Given the description of an element on the screen output the (x, y) to click on. 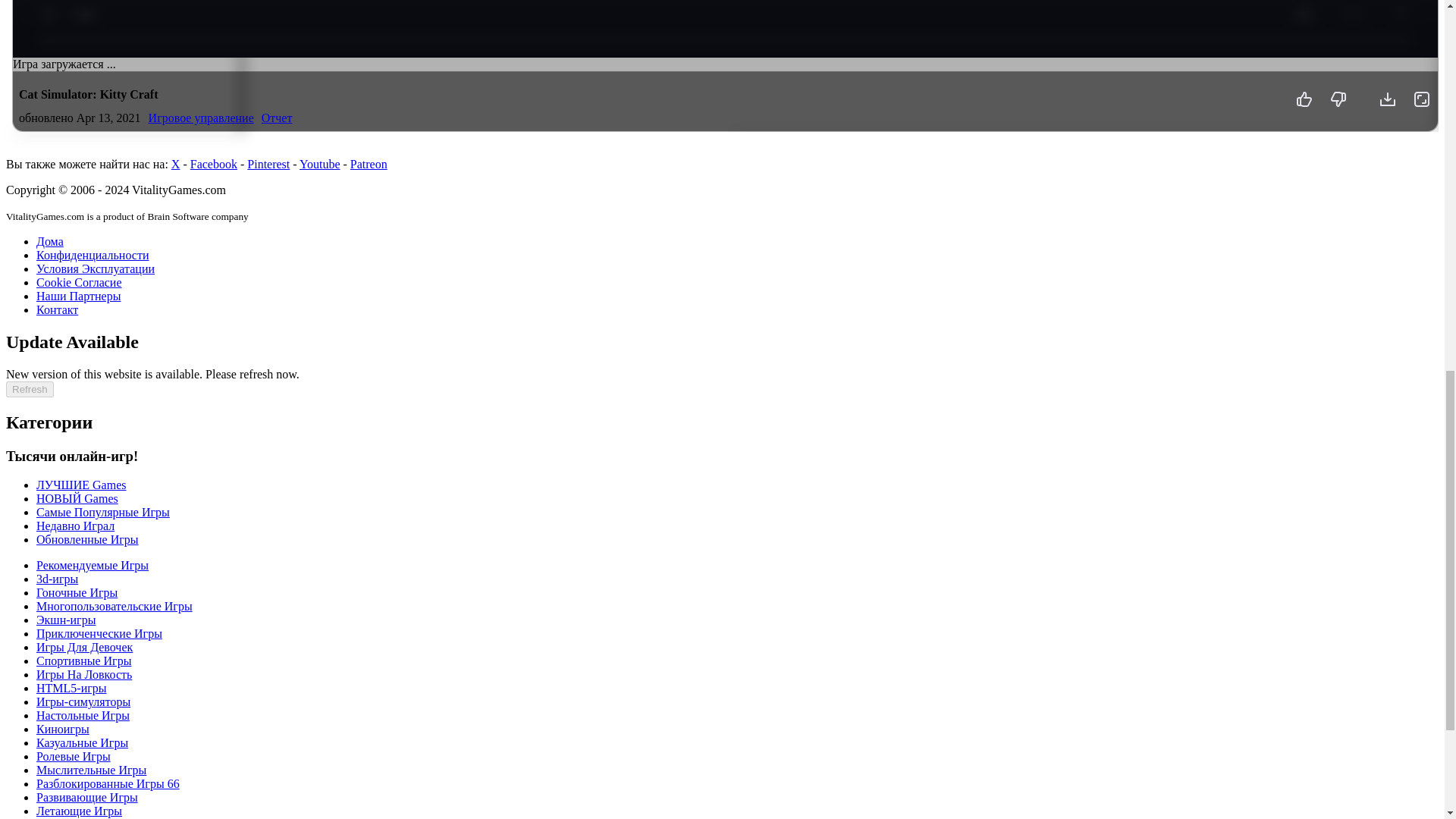
Refresh (29, 389)
Patreon (368, 164)
Pinterest (268, 164)
Facebook (213, 164)
Youtube (319, 164)
X (175, 164)
